Given the description of an element on the screen output the (x, y) to click on. 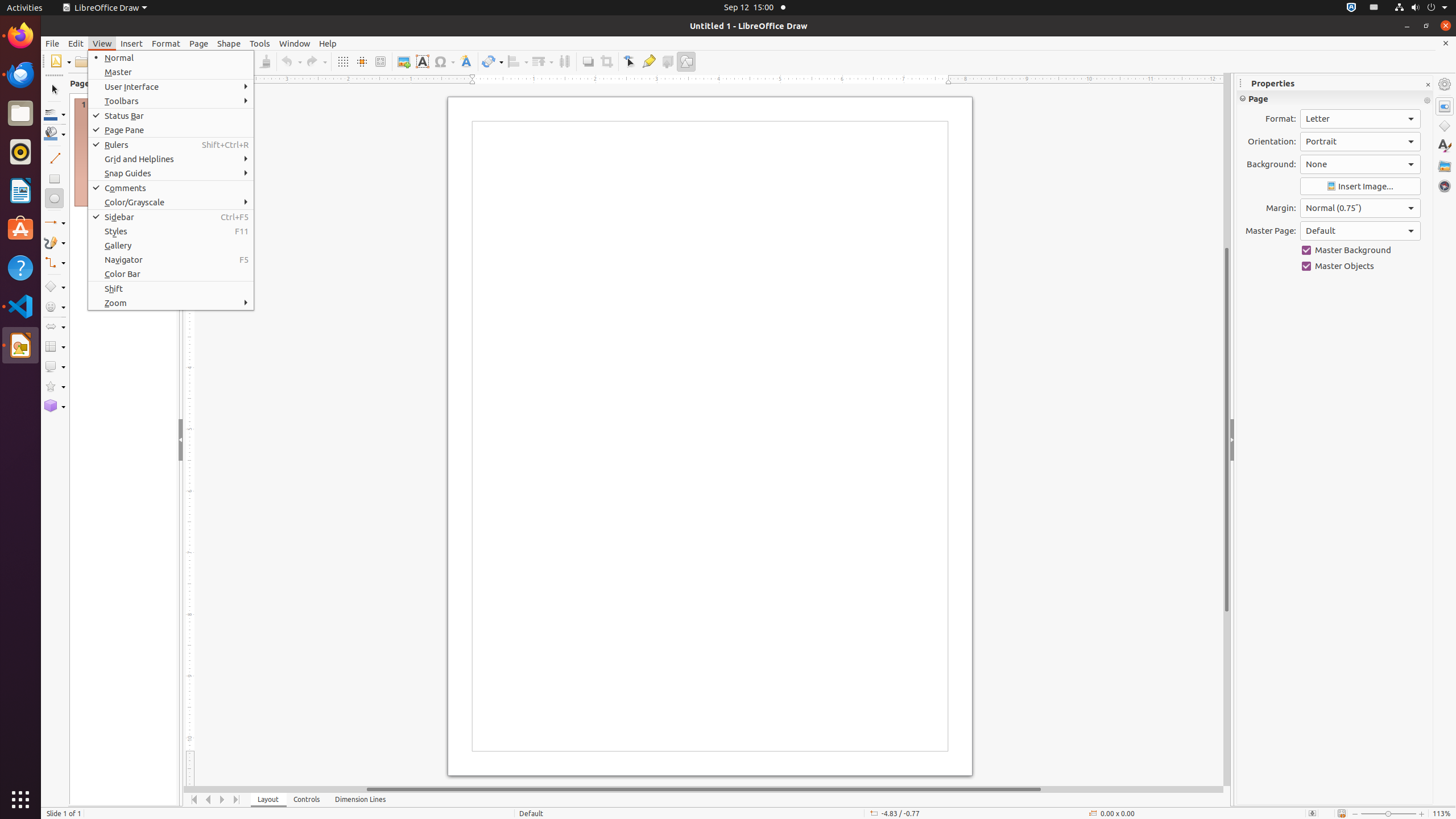
Text Box Element type: push-button (421, 61)
Vertical scroll bar Element type: scroll-bar (1226, 429)
Zoom & Pan Element type: push-button (379, 61)
Horizontal scroll bar Element type: scroll-bar (703, 789)
Margin: Element type: combo-box (1360, 207)
